Given the description of an element on the screen output the (x, y) to click on. 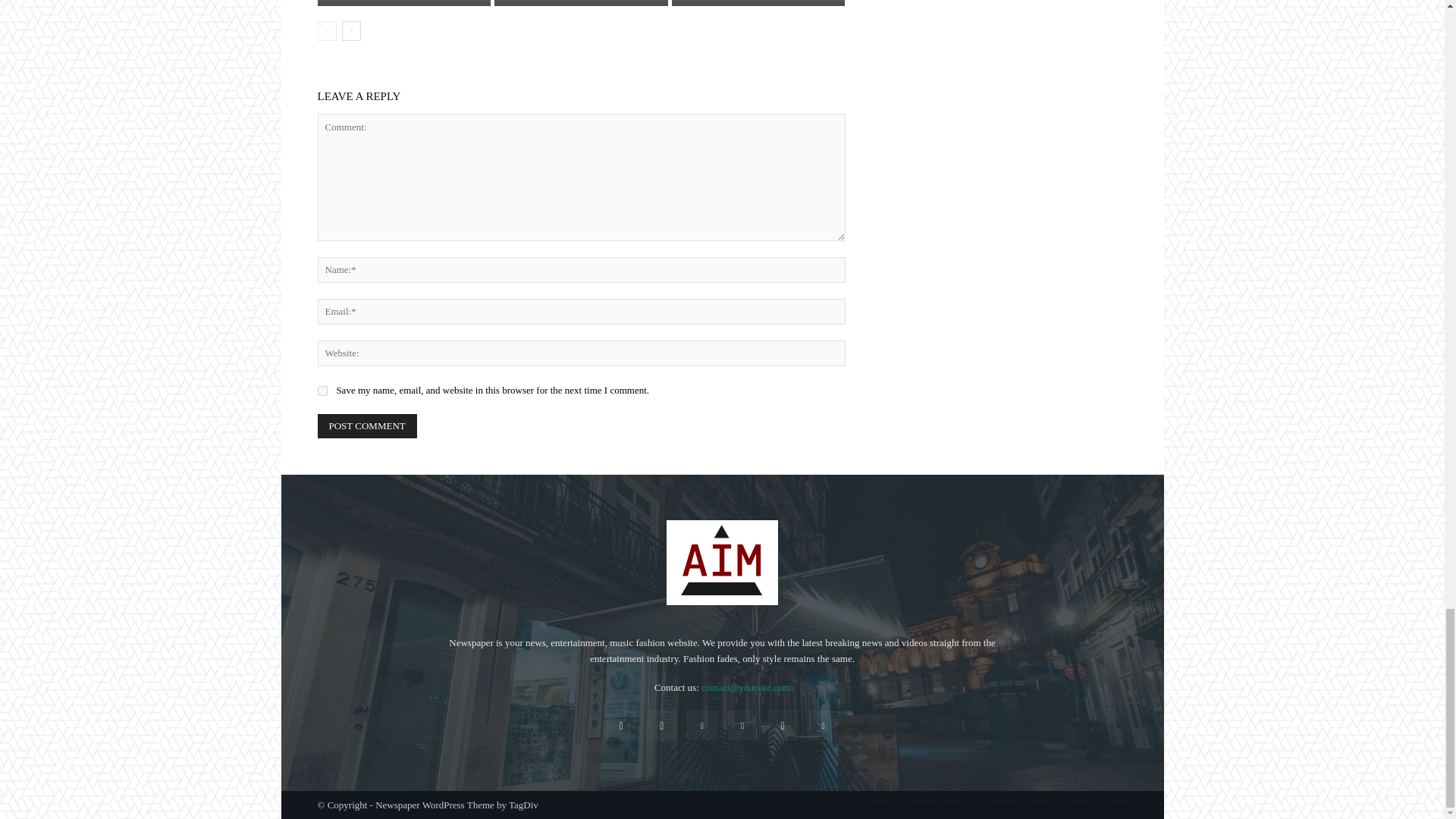
yes (321, 390)
Post Comment (366, 426)
